Given the description of an element on the screen output the (x, y) to click on. 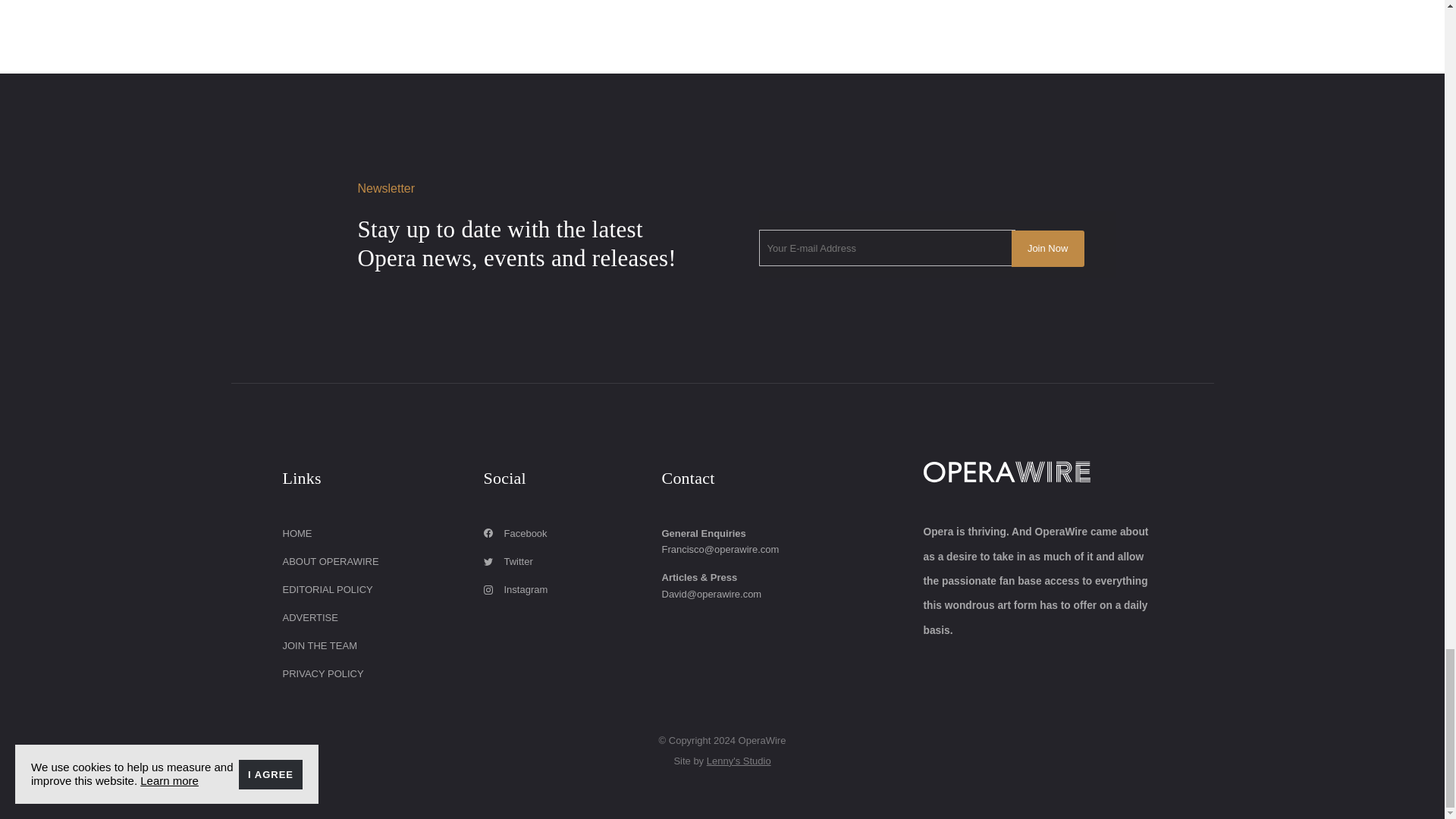
Join Now (1047, 248)
